Given the description of an element on the screen output the (x, y) to click on. 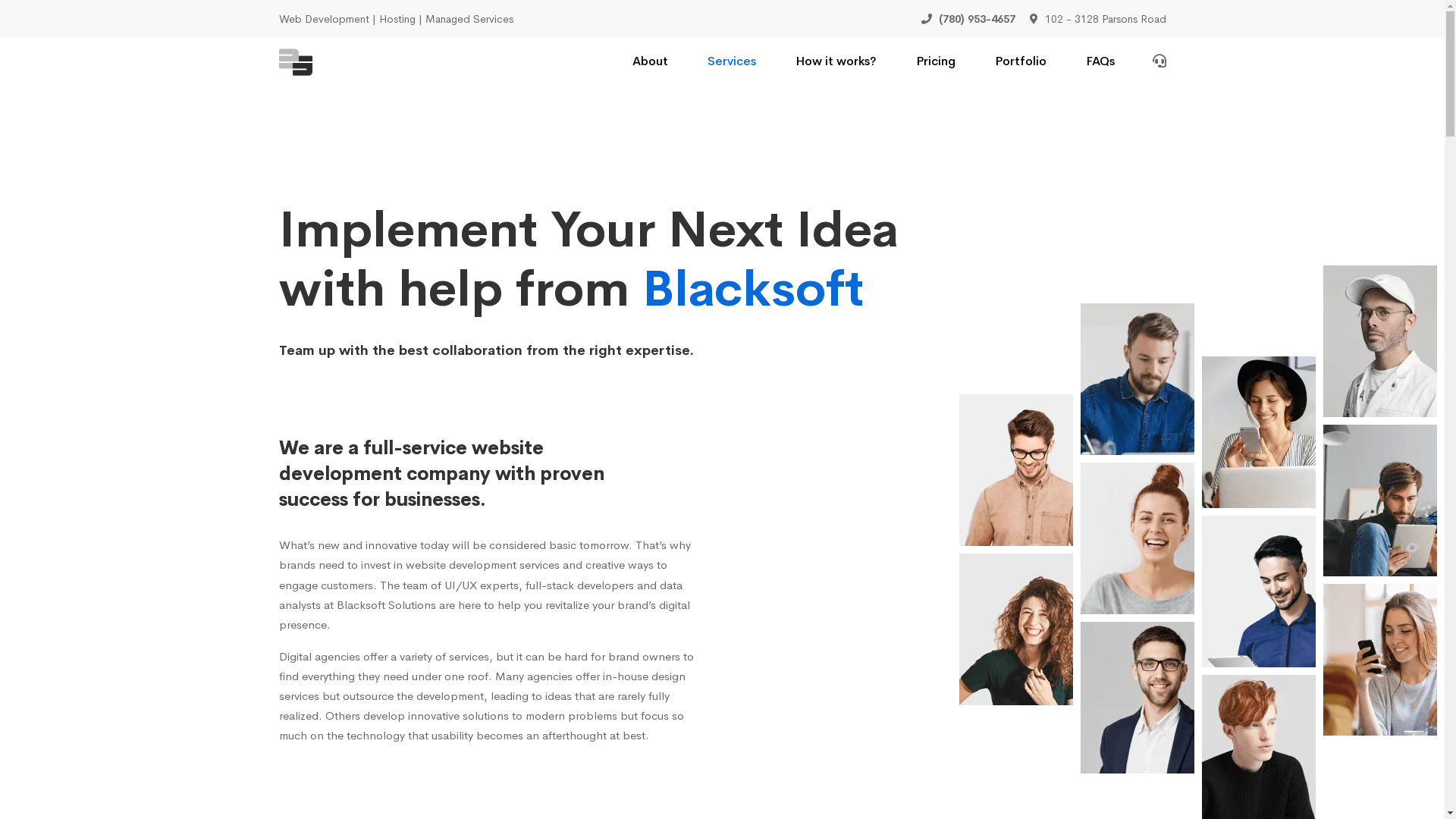
About Element type: text (649, 61)
Pricing Element type: text (935, 61)
(780) 953-4657 Element type: text (967, 18)
How it works? Element type: text (835, 61)
Portfolio Element type: text (1020, 61)
Services Element type: text (730, 61)
FAQs Element type: text (1100, 61)
